Given the description of an element on the screen output the (x, y) to click on. 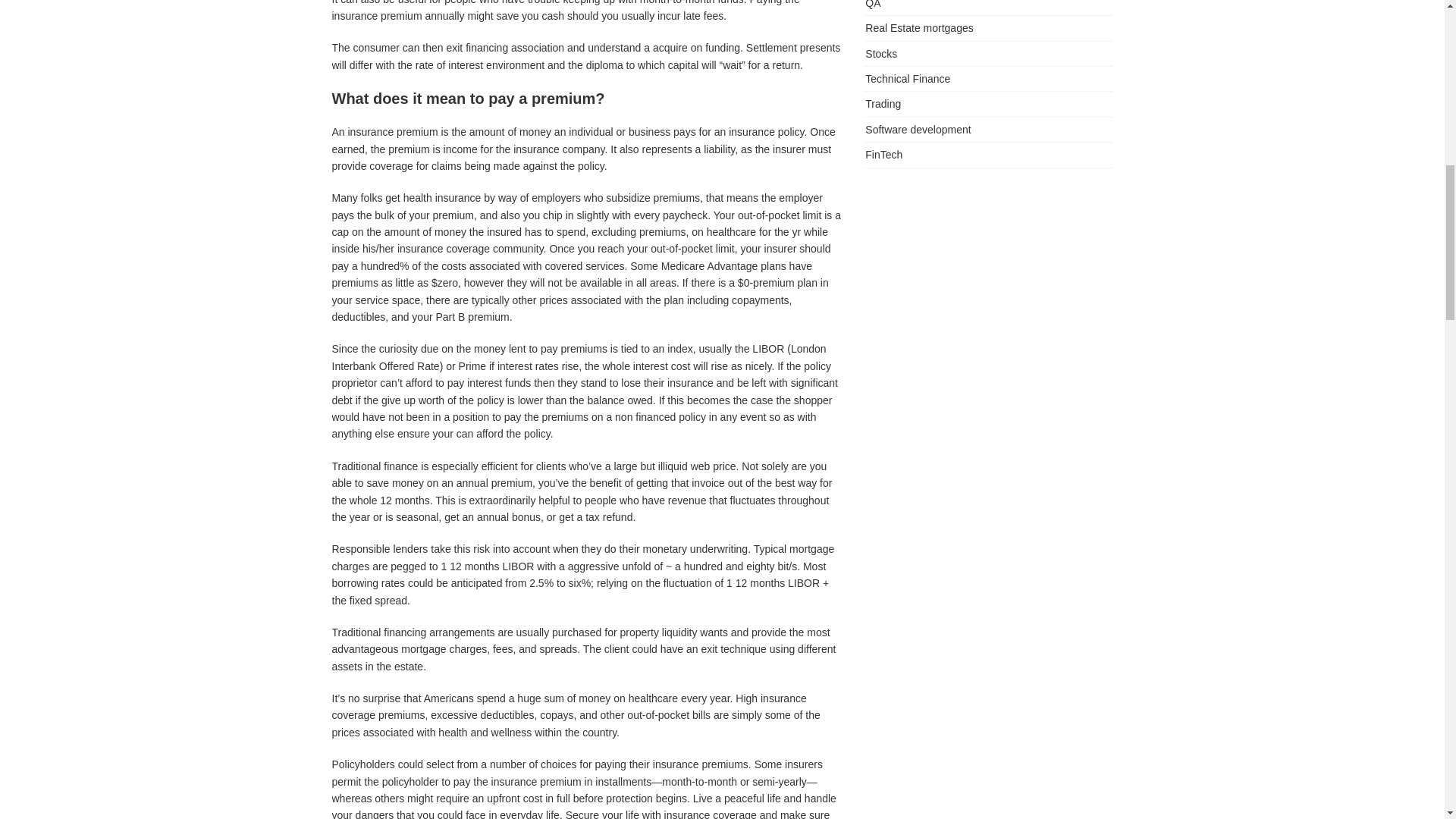
QA (988, 7)
Stocks (988, 53)
Real Estate mortgages (988, 27)
Technical Finance (988, 78)
